Given the description of an element on the screen output the (x, y) to click on. 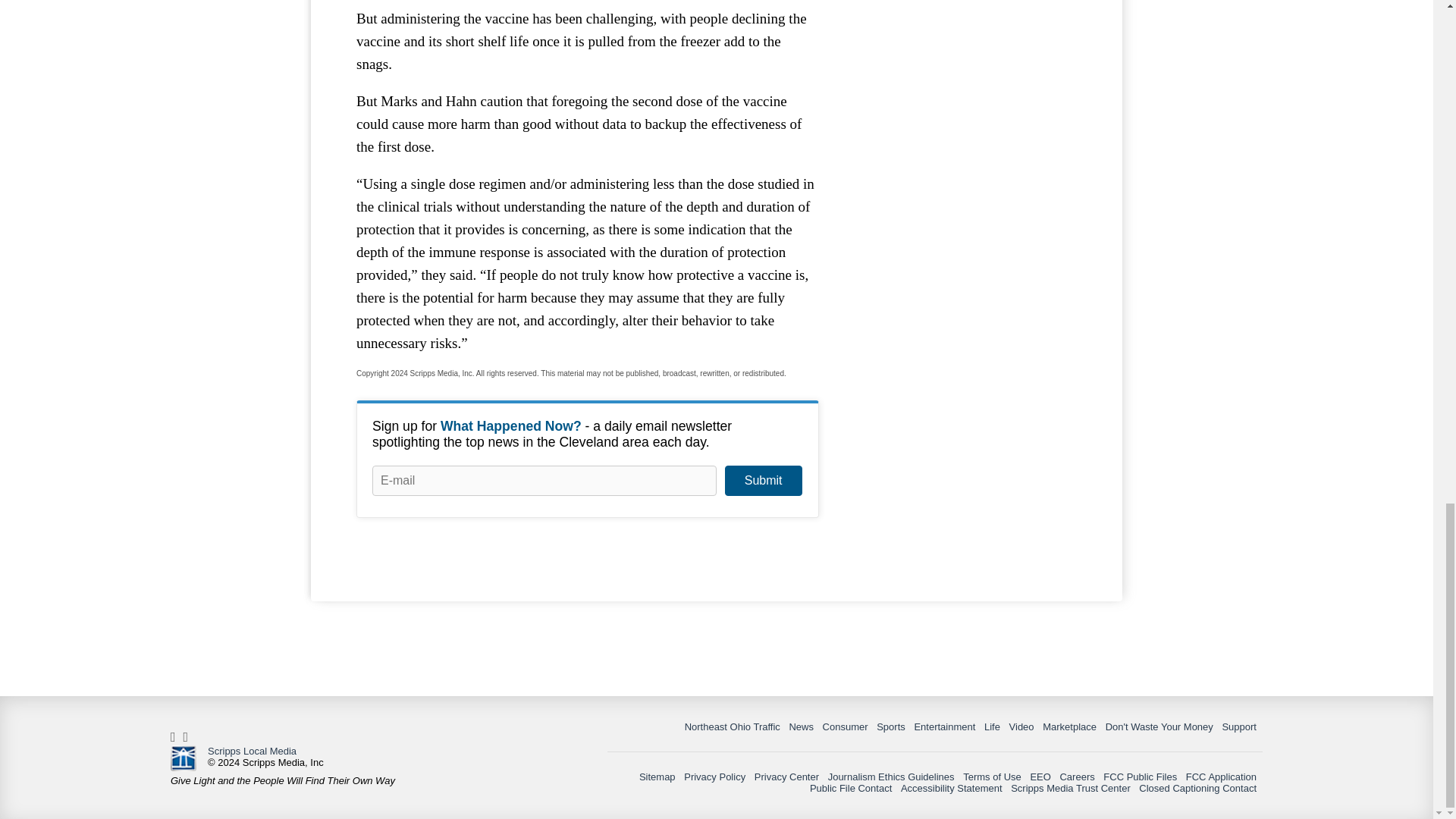
Submit (763, 481)
